Given the description of an element on the screen output the (x, y) to click on. 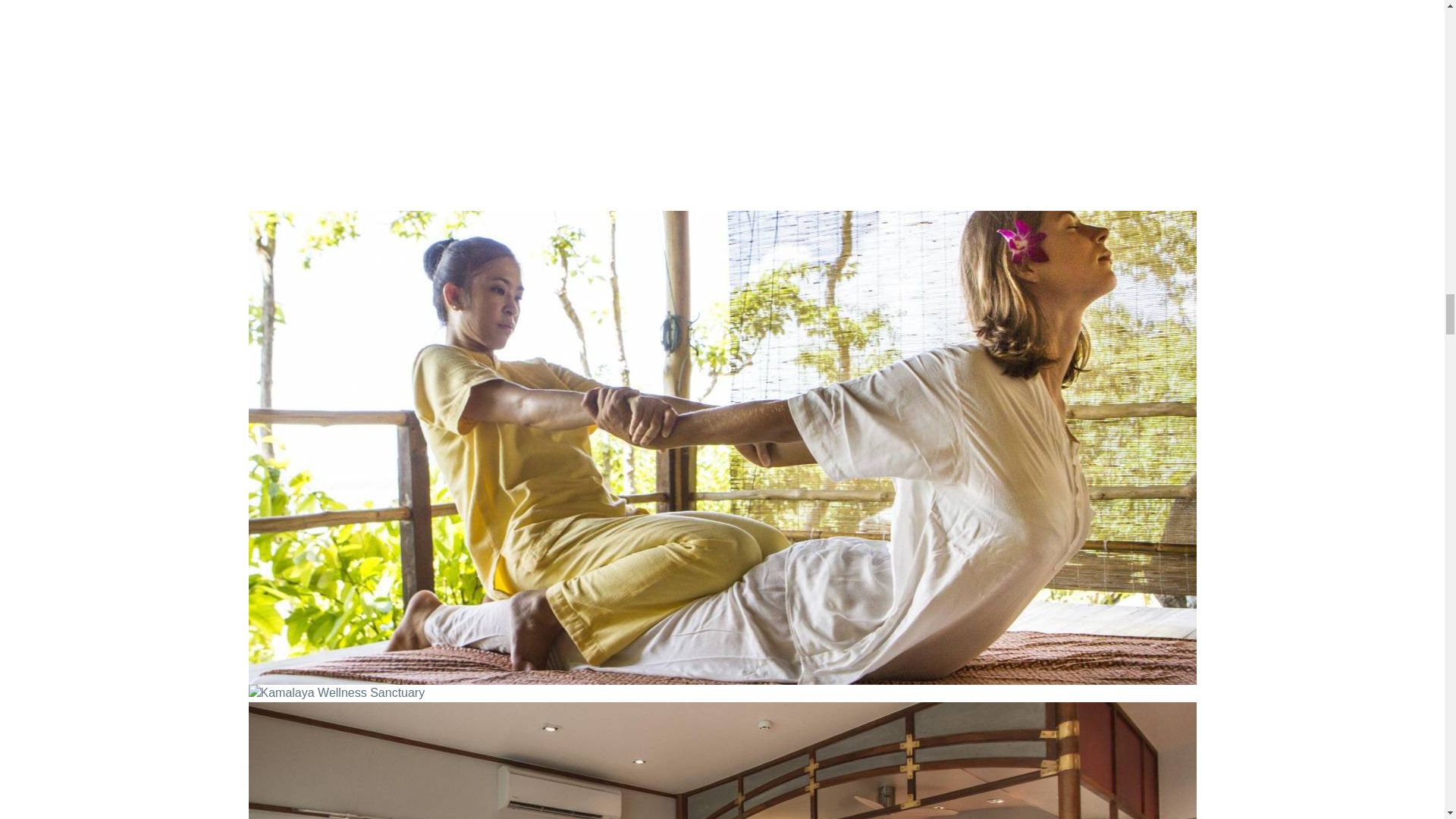
Kamalaya Wellness Sanctuary (336, 692)
Kamalaya Wellness Sanctuary (722, 760)
